Given the description of an element on the screen output the (x, y) to click on. 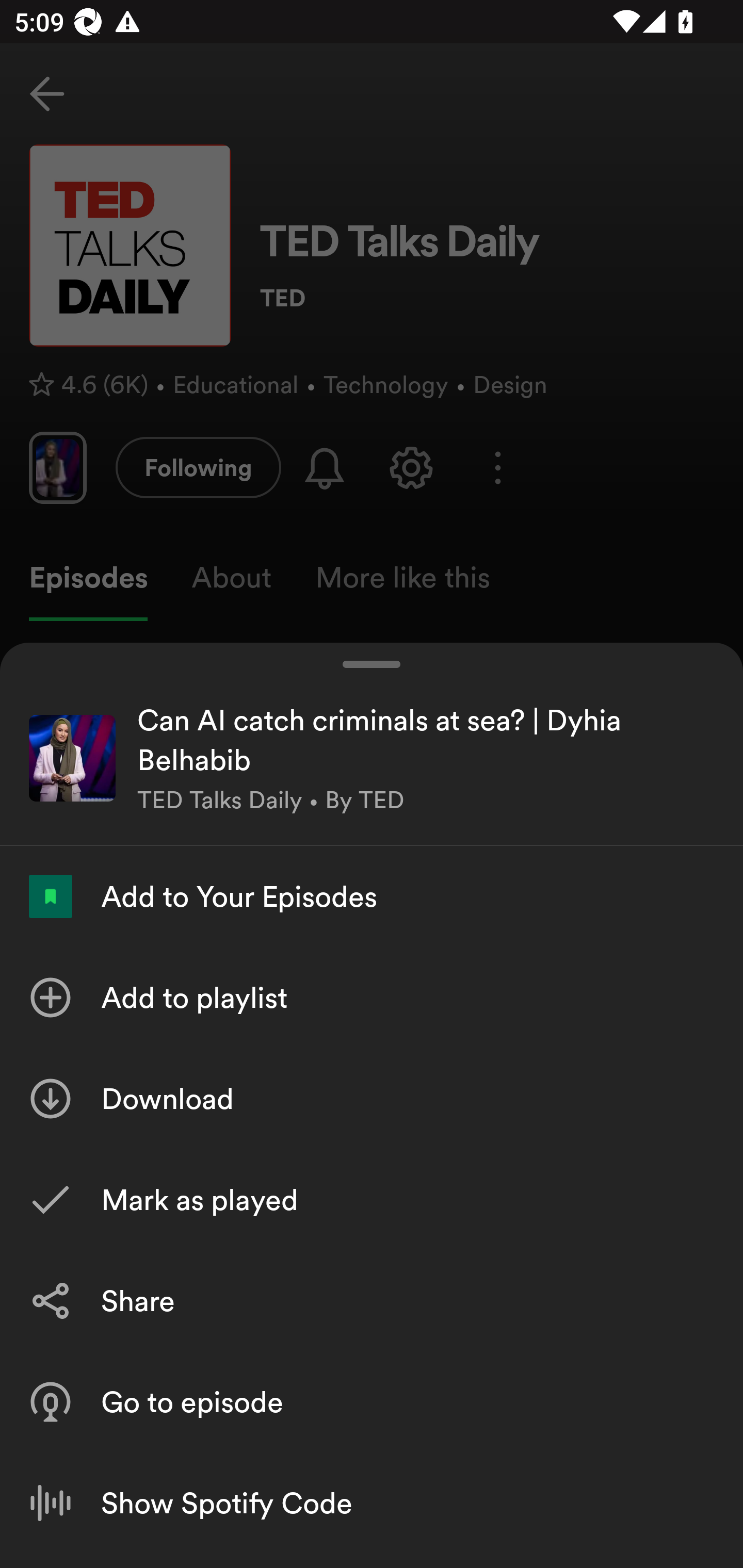
Add to Your Episodes (371, 896)
Add to playlist (371, 997)
Download (371, 1098)
Mark as played (371, 1199)
Share (371, 1300)
Go to episode (371, 1401)
Show Spotify Code (371, 1502)
